Given the description of an element on the screen output the (x, y) to click on. 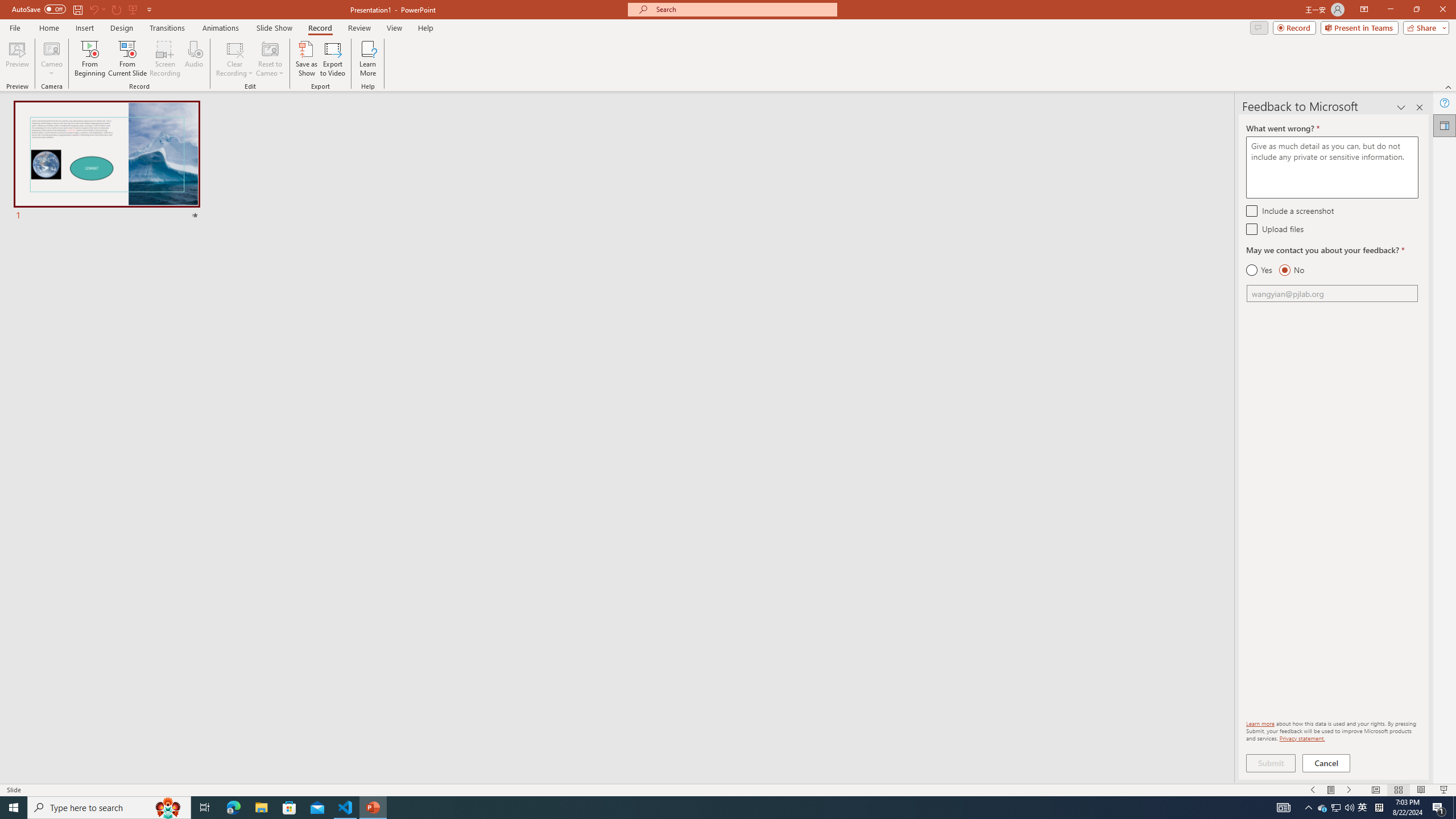
Submit (1270, 763)
